Given the description of an element on the screen output the (x, y) to click on. 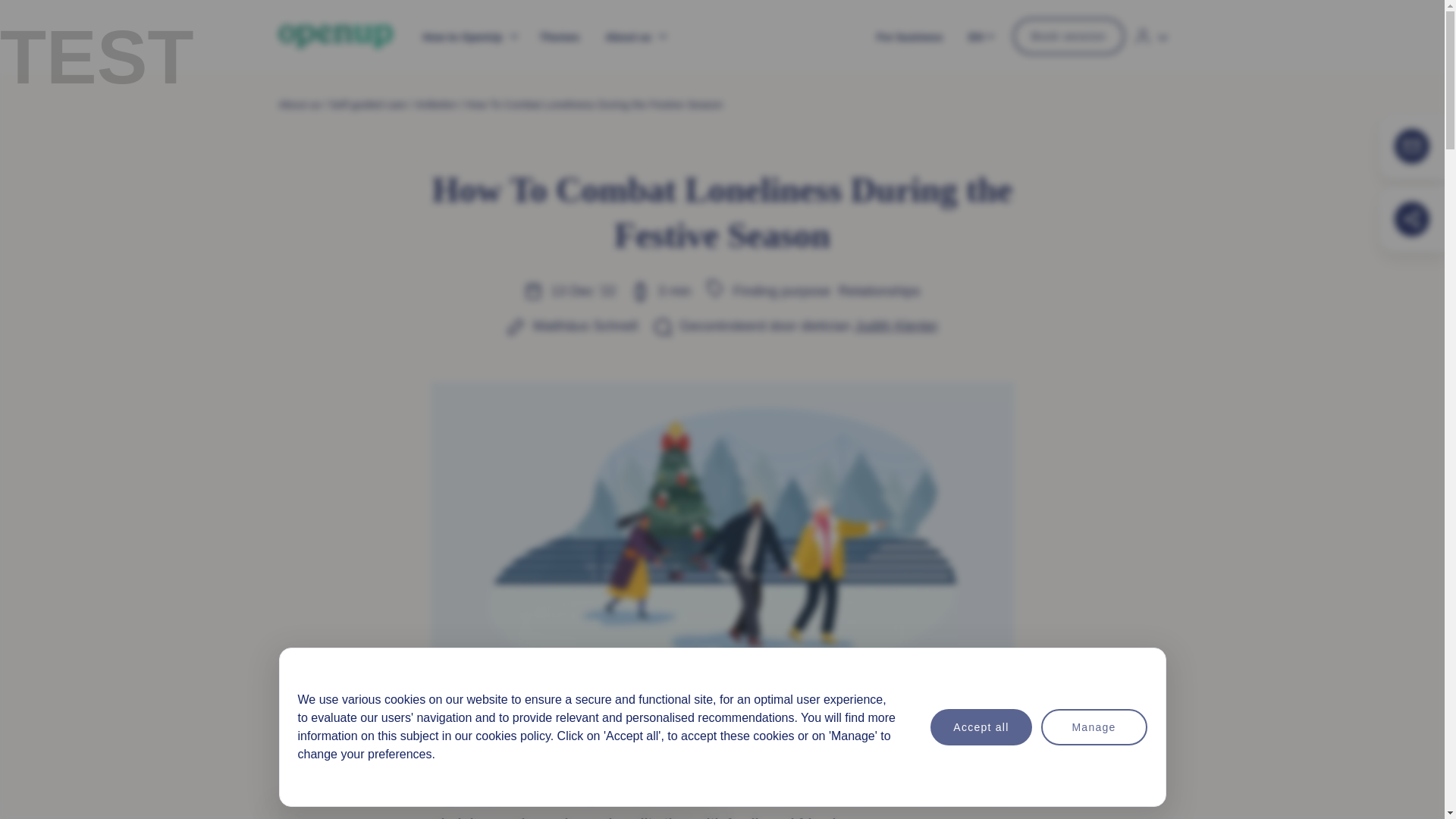
Book session (1068, 36)
About us (633, 35)
EN (984, 35)
For business (909, 35)
Manage (1094, 800)
How to OpenUp (467, 35)
Themes (559, 35)
